Given the description of an element on the screen output the (x, y) to click on. 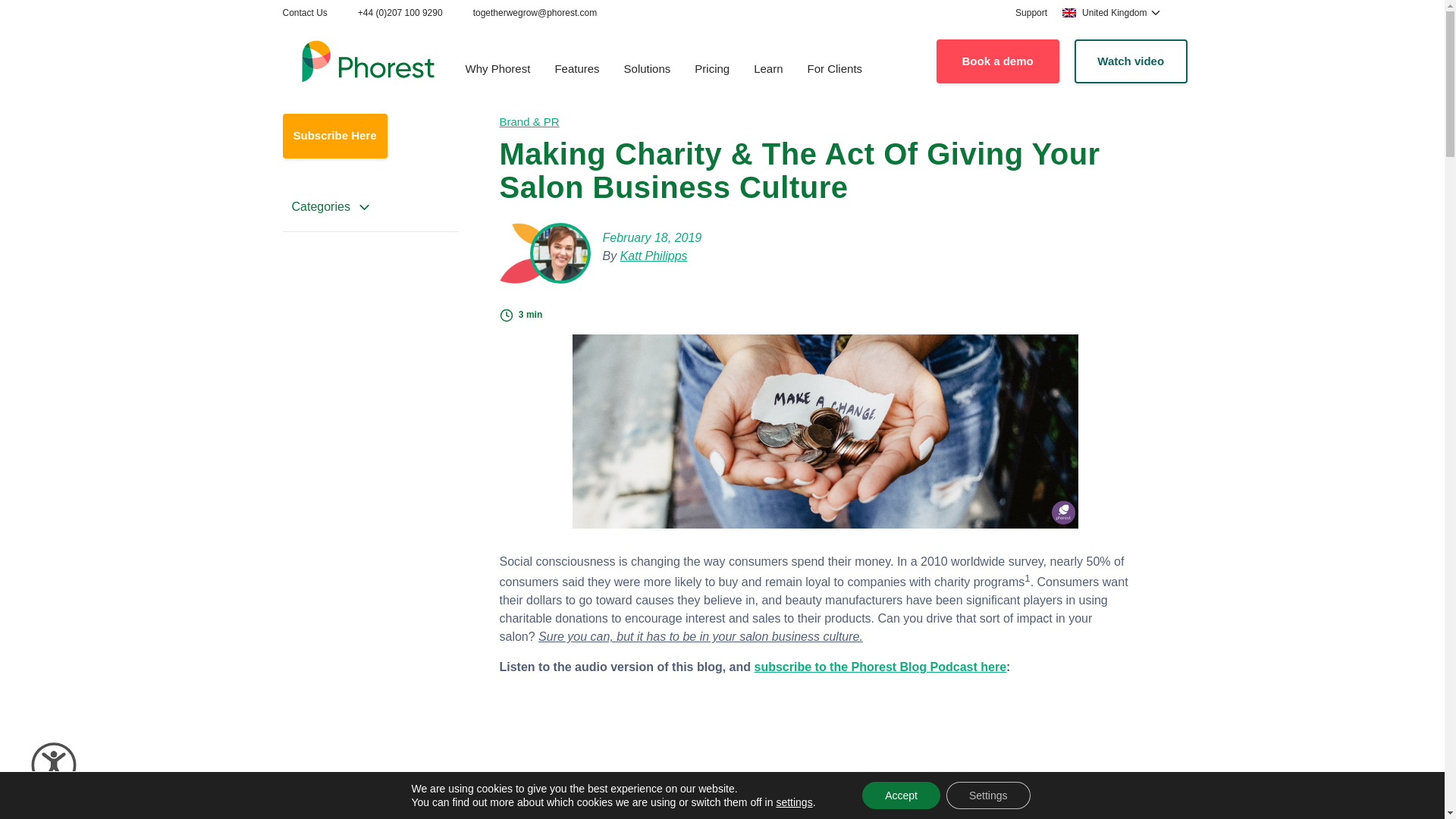
Why Phorest (497, 69)
Support (1030, 12)
Contact Us (304, 12)
Features (576, 69)
